Given the description of an element on the screen output the (x, y) to click on. 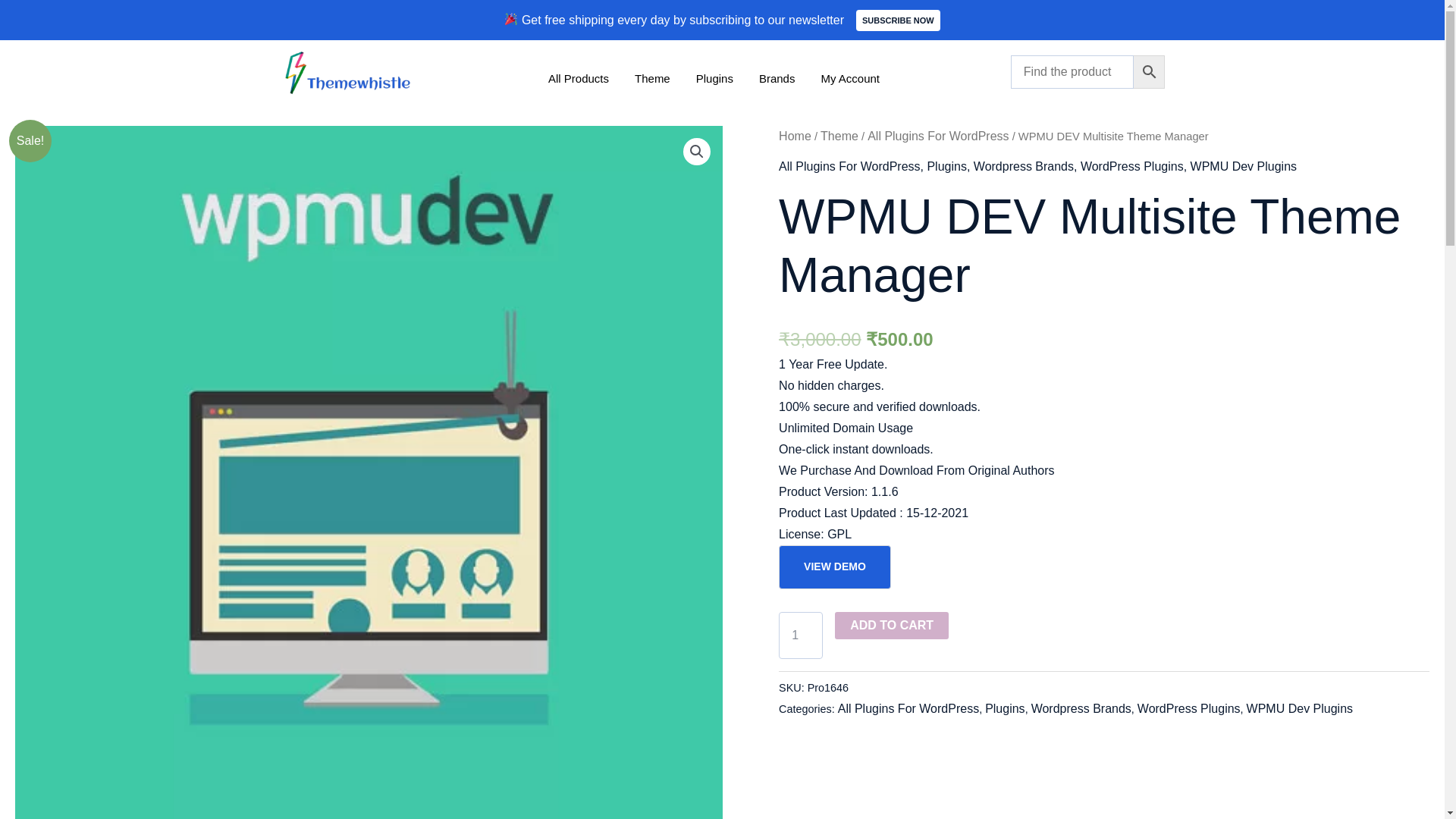
SUBSCRIBE NOW (898, 20)
Theme (651, 76)
All Products (578, 76)
1 (800, 635)
